Given the description of an element on the screen output the (x, y) to click on. 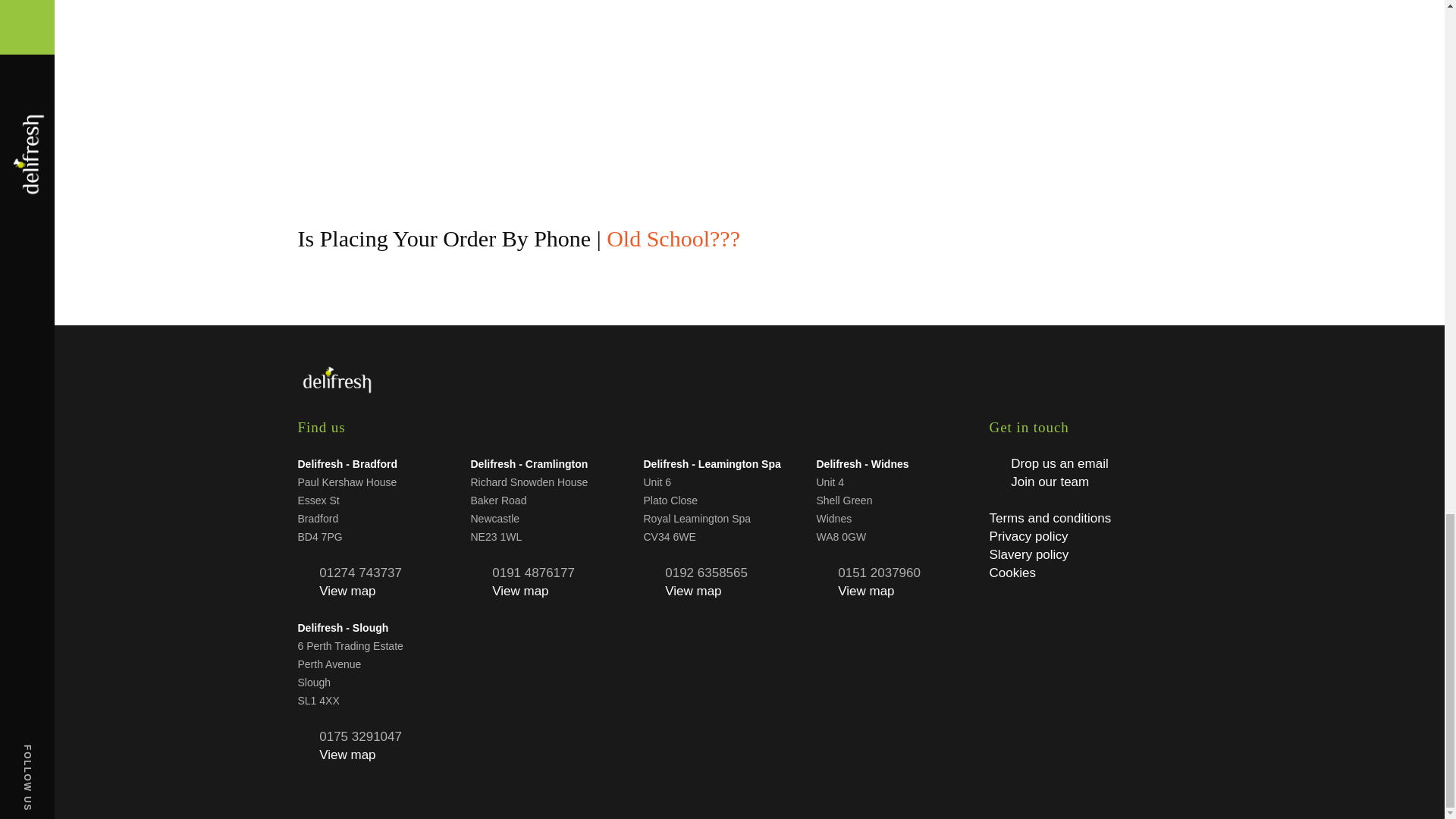
Terms and conditions (1049, 518)
Join our team (1049, 481)
See Delifresh - Bradford on Google maps (346, 590)
See Delifresh - Slough on Google maps (346, 754)
View map (346, 590)
View map (692, 590)
Privacy policy (1027, 536)
Cookies (1011, 572)
View map (346, 754)
See Delifresh - Leamington Spa on Google maps (692, 590)
Drop us an email (1059, 463)
View map (865, 590)
See Delifresh - Cramlington on Google maps (520, 590)
See Delifresh - Widnes on Google maps (865, 590)
Slavery policy (1028, 554)
